Given the description of an element on the screen output the (x, y) to click on. 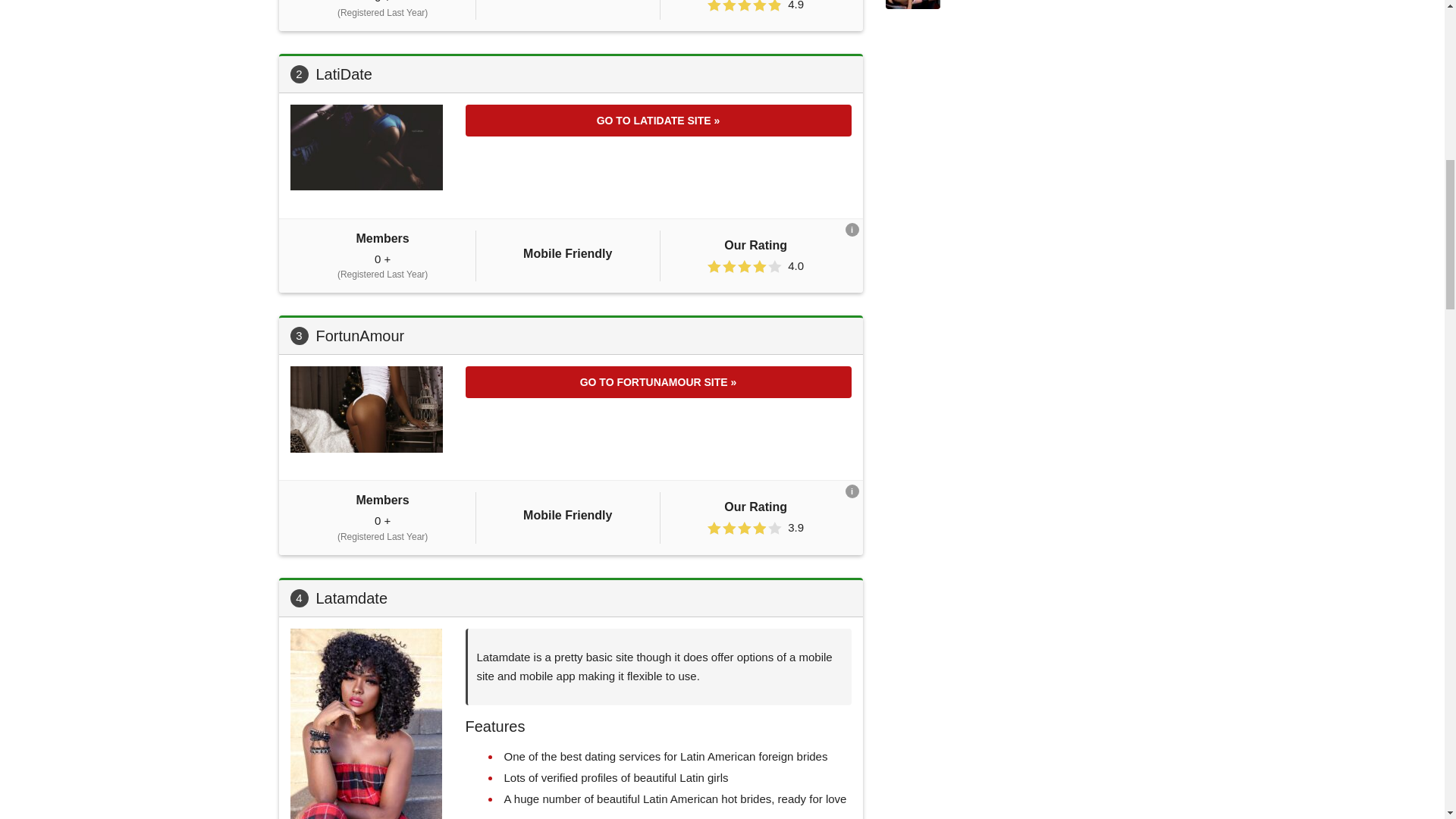
i (851, 490)
Our Score (744, 5)
i (851, 229)
Our Score (744, 266)
Our Score (744, 527)
